Given the description of an element on the screen output the (x, y) to click on. 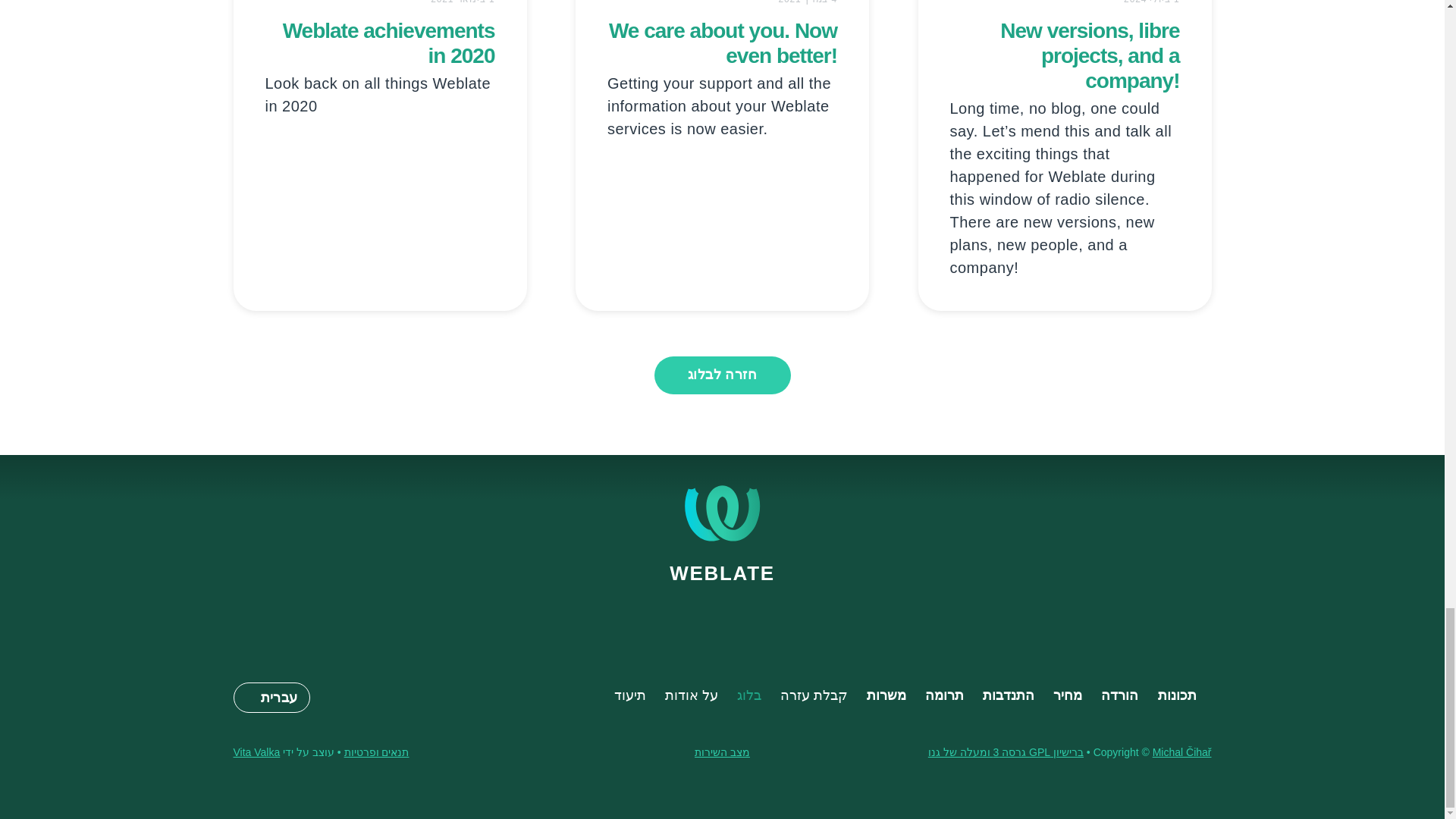
GitHub (650, 615)
Weblate achievements in 2020 (388, 42)
New versions, libre projects, and a company! (1089, 55)
We care about you. Now even better! (722, 42)
Mastodon (722, 615)
Facebook (686, 615)
X (758, 615)
LinkedIn (794, 615)
